Given the description of an element on the screen output the (x, y) to click on. 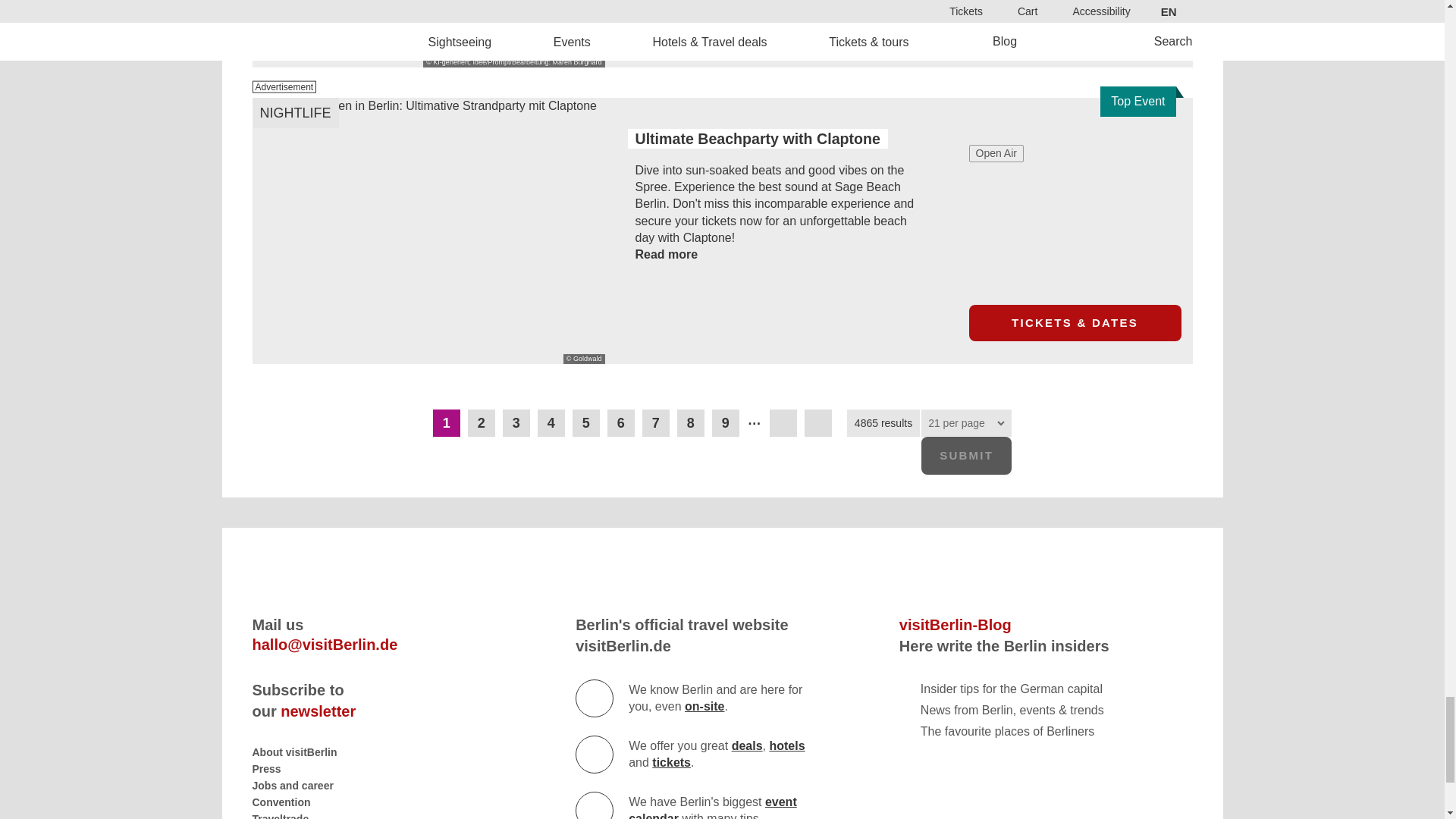
Submit (966, 455)
